Given the description of an element on the screen output the (x, y) to click on. 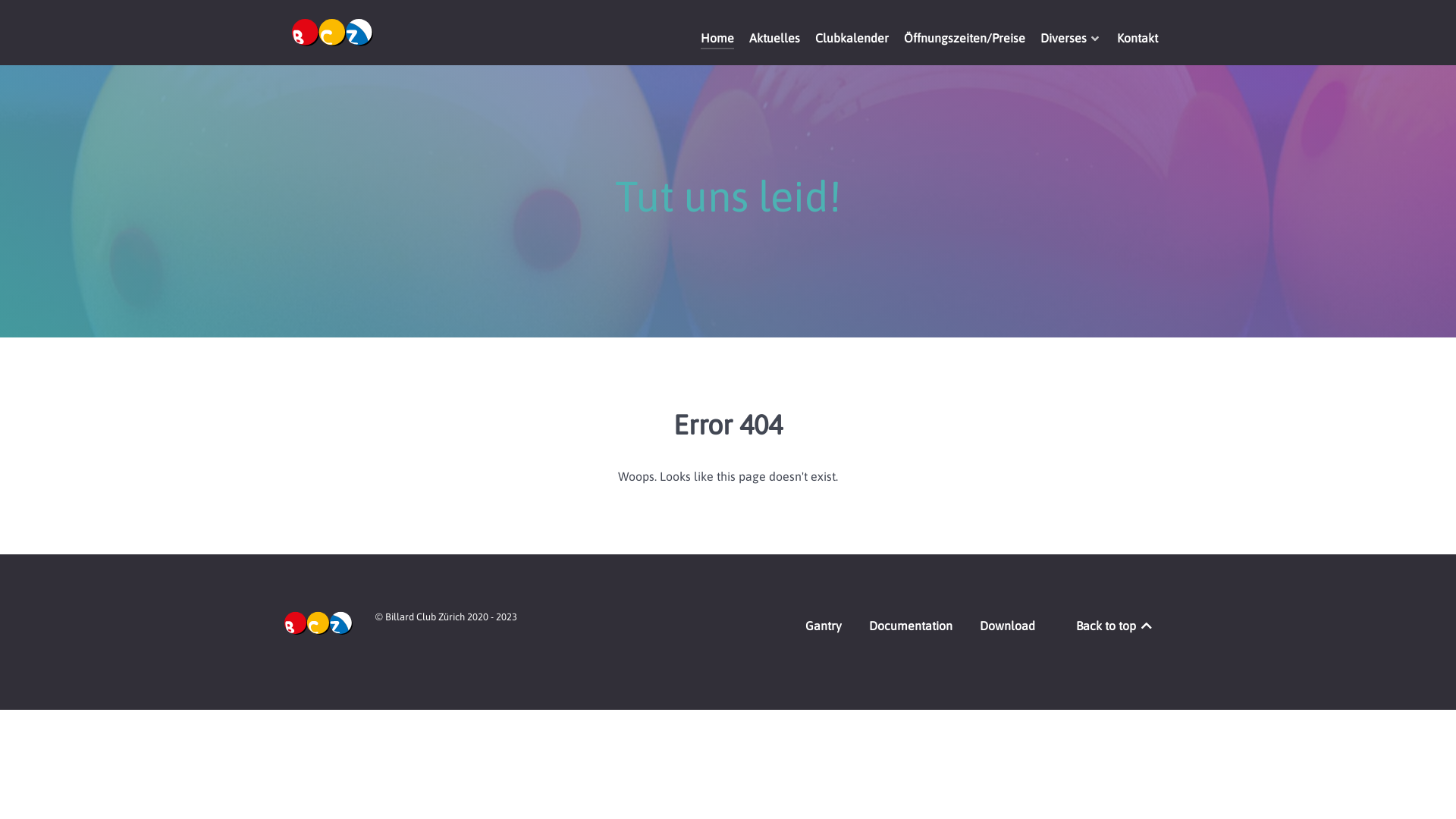
Kontakt Element type: text (1137, 39)
Home Element type: text (717, 39)
Documentation Element type: text (910, 628)
Back to top Element type: text (1114, 625)
Aktuelles Element type: text (774, 39)
Gantry Element type: text (823, 628)
Download Element type: text (1007, 628)
Clubkalender Element type: text (851, 39)
